Given the description of an element on the screen output the (x, y) to click on. 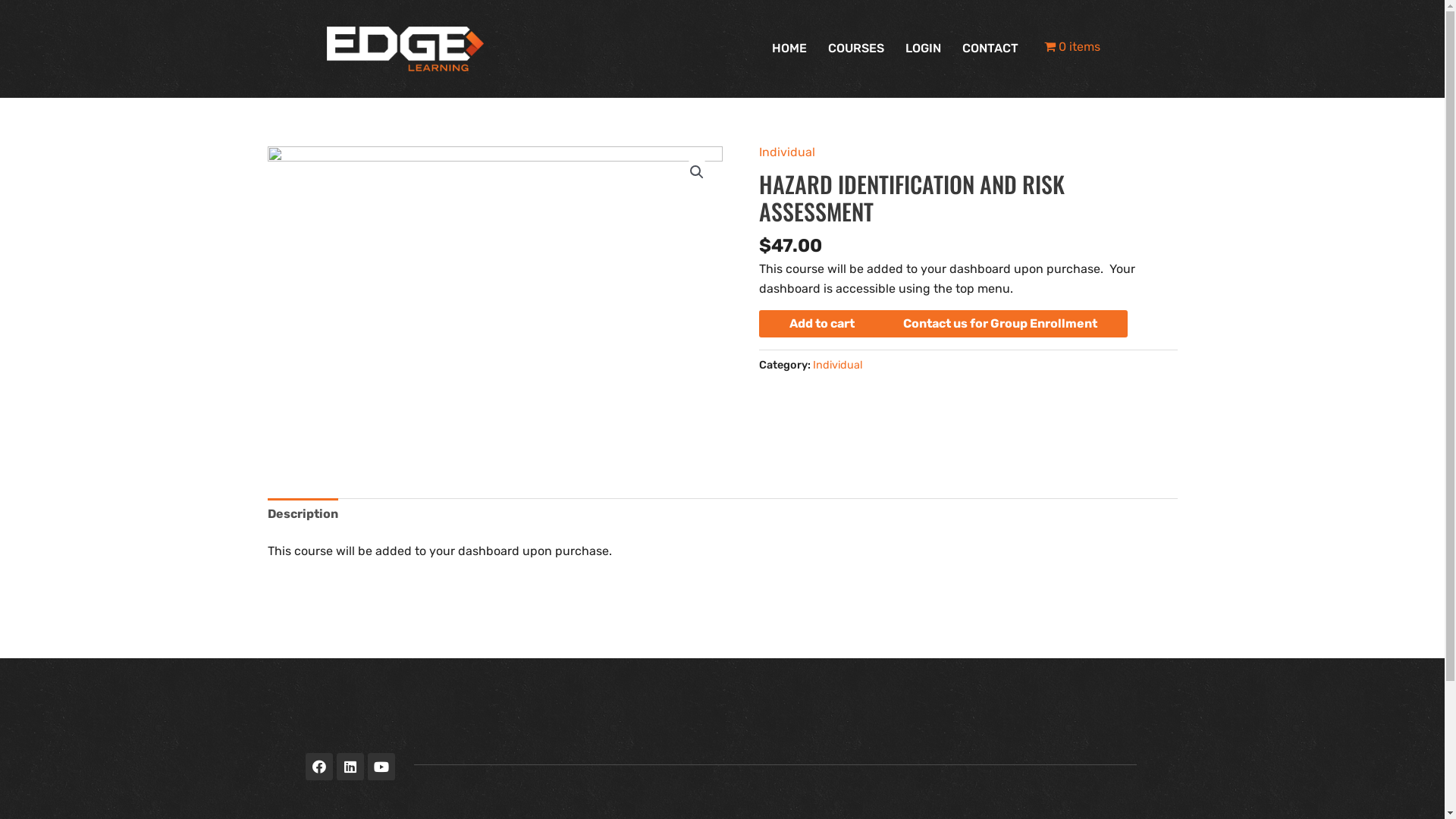
HOME Element type: text (789, 48)
Description Element type: text (301, 514)
CONTACT Element type: text (990, 48)
Add to cart Element type: text (821, 323)
Individual Element type: text (837, 364)
0 items Element type: text (1072, 48)
Youtube Element type: text (380, 766)
COURSES Element type: text (855, 48)
Linkedin Element type: text (350, 766)
Contact us for Group Enrollment Element type: text (999, 323)
Businessman in risk management concept Element type: hover (493, 297)
Individual Element type: text (786, 151)
Facebook Element type: text (318, 766)
LOGIN Element type: text (922, 48)
